Given the description of an element on the screen output the (x, y) to click on. 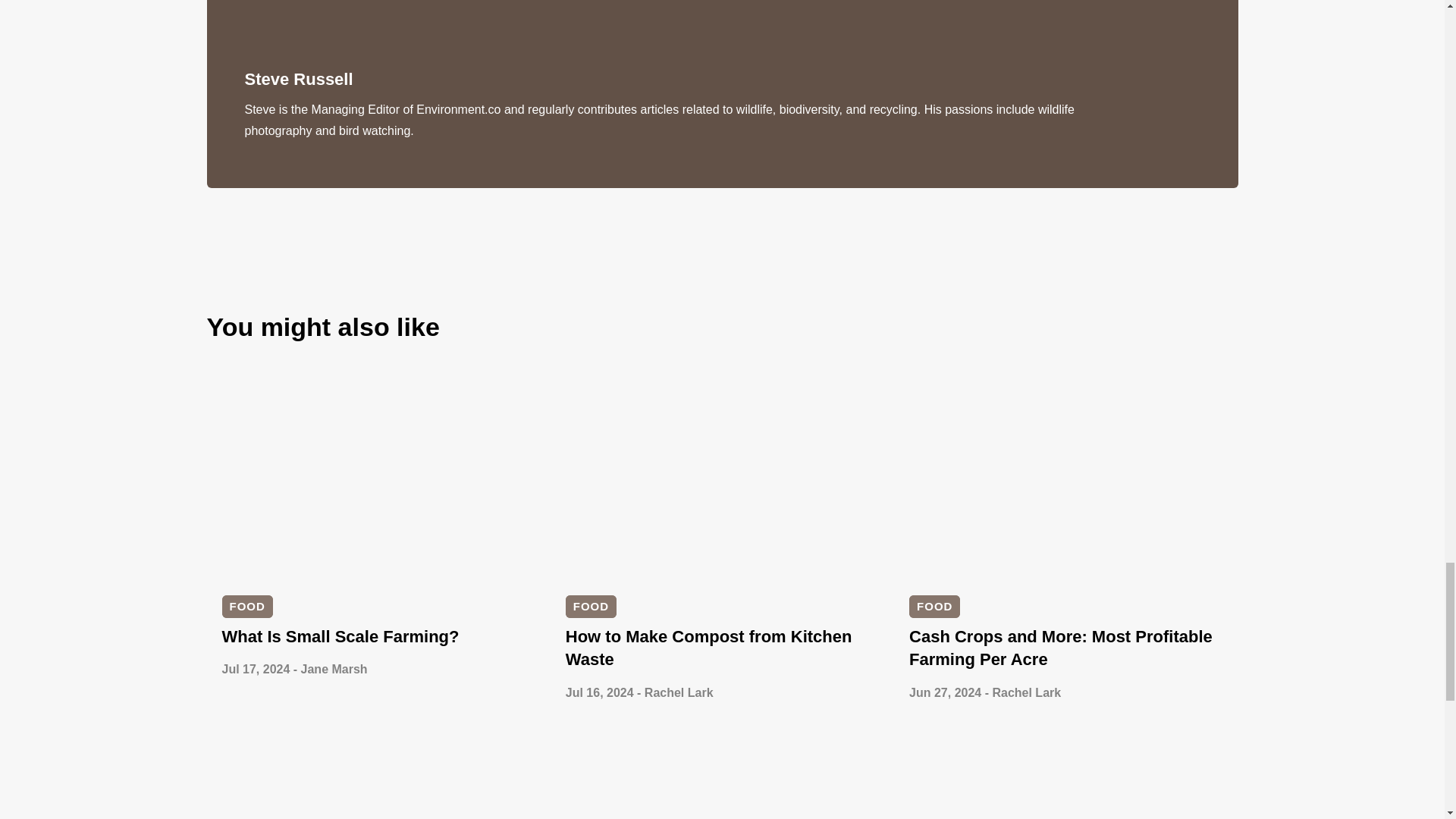
How to Make Compost from Kitchen Waste (708, 648)
FOOD (590, 606)
What Is Small Scale Farming? (339, 636)
How to Make Compost from Kitchen Waste (708, 648)
Jane Marsh (334, 668)
Cash Crops and More: Most Profitable Farming Per Acre (1060, 648)
What Is Small Scale Farming? (339, 636)
FOOD (246, 606)
Rachel Lark (679, 692)
